Given the description of an element on the screen output the (x, y) to click on. 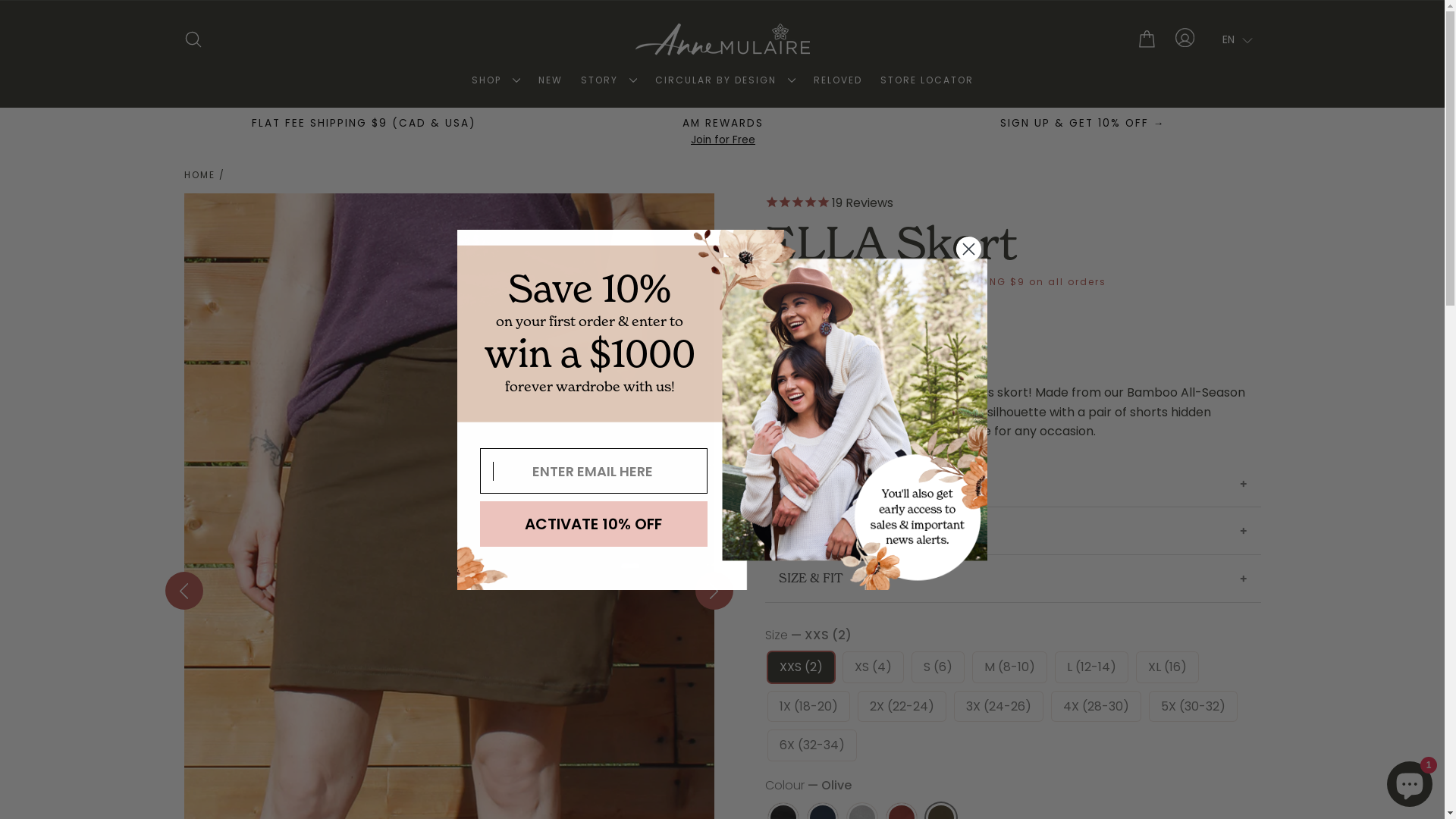
Skip to content Element type: text (0, 0)
SEARCH Element type: text (192, 38)
STORY Element type: text (608, 79)
FEATURES Element type: text (1012, 484)
CART Element type: text (1146, 38)
NEW Element type: text (550, 79)
CIRCULAR BY DESIGN Element type: text (725, 79)
HOME Element type: text (198, 174)
EN Element type: text (1237, 38)
LOG IN Element type: text (1184, 38)
FLAT FEE SHIPPING $9 (CAD & USA) Element type: text (363, 123)
SIZE & FIT Element type: text (1012, 578)
Submit Element type: text (29, 16)
RELOVED Element type: text (837, 79)
SHOP Element type: text (495, 79)
ACTIVATE 10% OFF Element type: text (592, 523)
STORE LOCATOR Element type: text (926, 79)
AM REWARDS
Join for Free Element type: text (723, 131)
MATERIALS Element type: text (1012, 531)
Shopify online store chat Element type: hover (1409, 780)
